Given the description of an element on the screen output the (x, y) to click on. 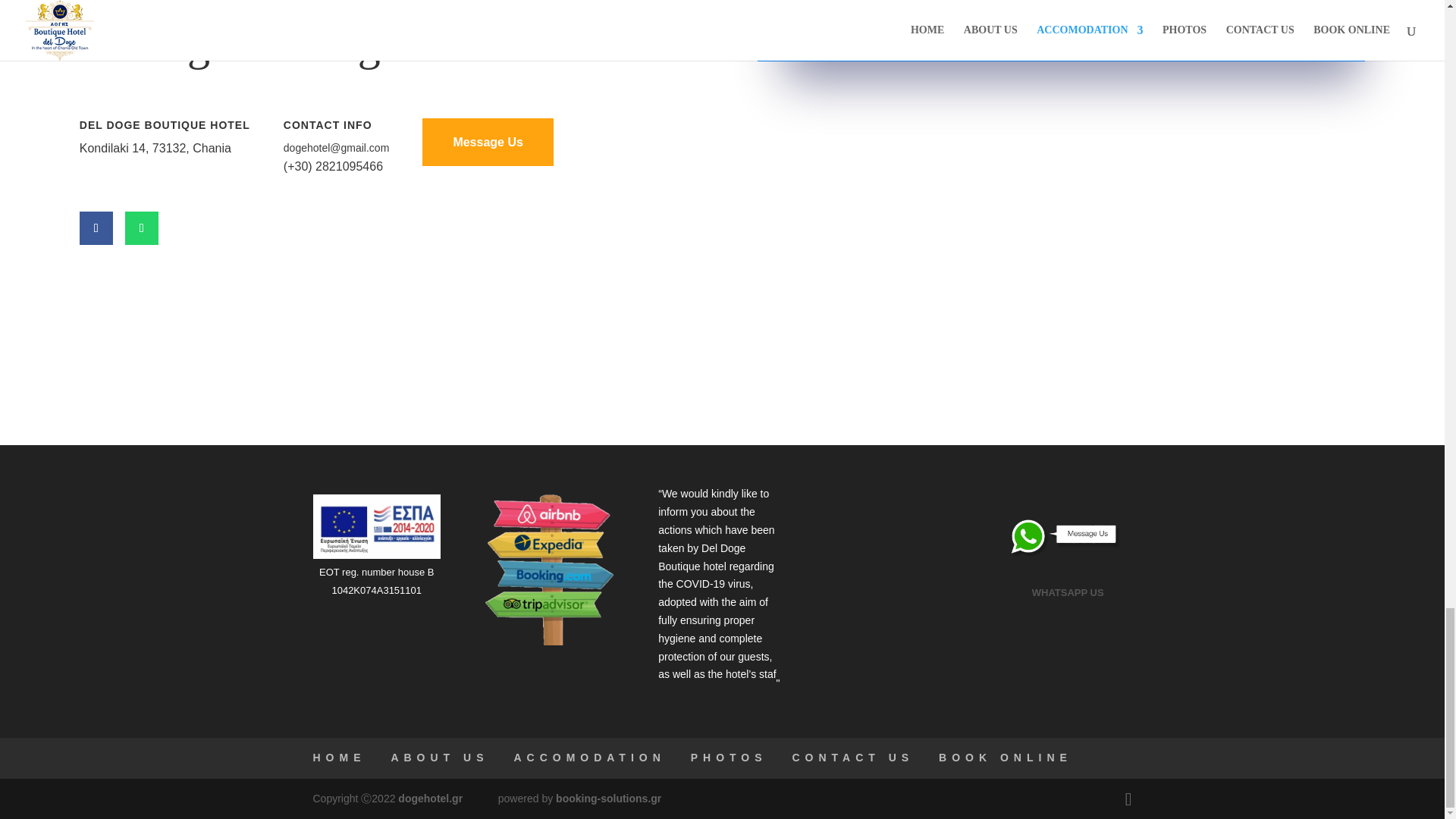
ABOUT US (438, 757)
Message Us (487, 141)
ACCOMODATION (589, 757)
Follow on Facebook (96, 227)
BOOK ONLINE (1005, 757)
PHOTOS (728, 757)
EOT reg. number house B 1042K074A3151101 (375, 581)
CONTACT US (853, 757)
HOME (339, 757)
